Given the description of an element on the screen output the (x, y) to click on. 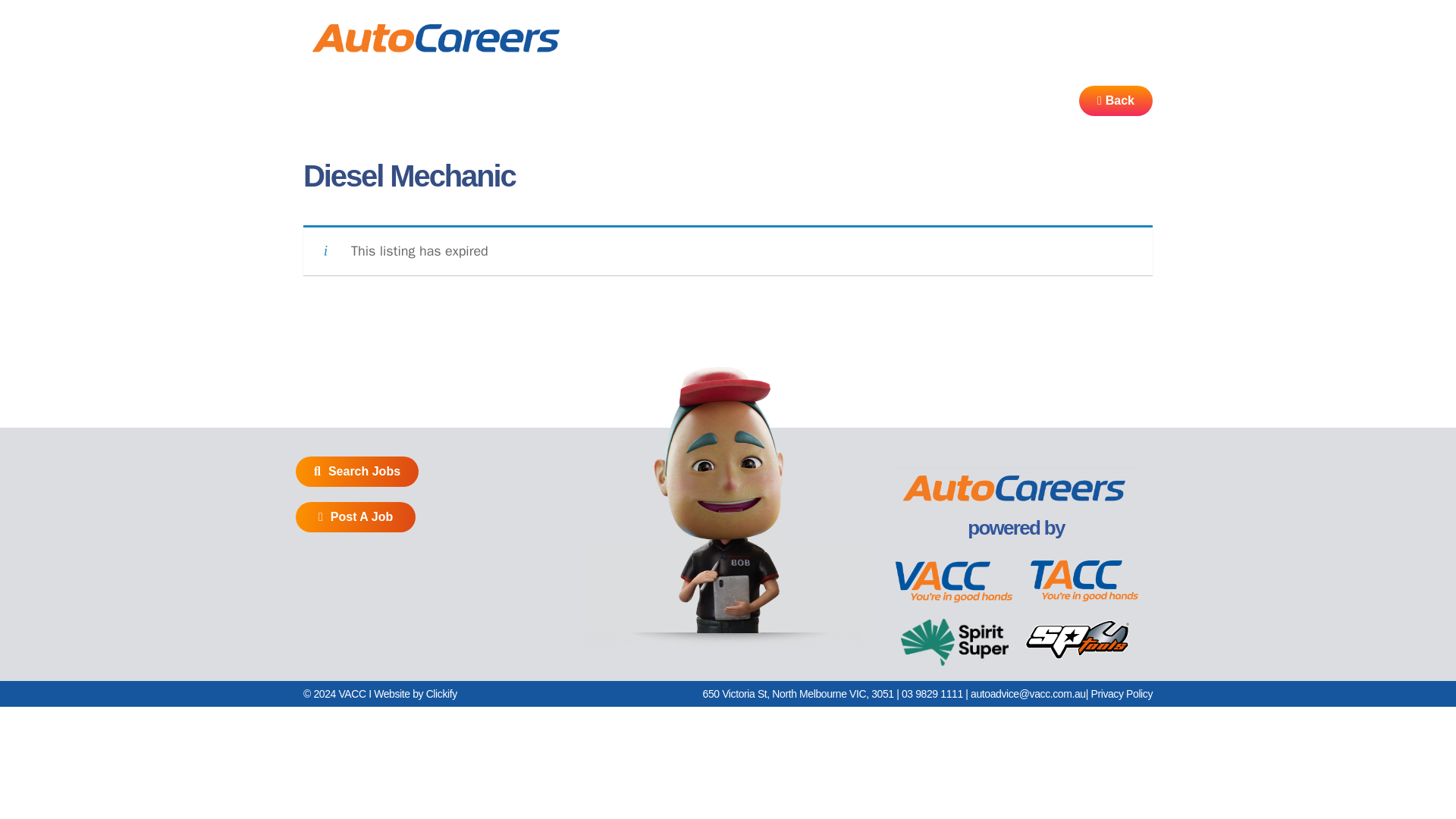
Clickify (441, 693)
Post A Job (354, 517)
Search Jobs (357, 471)
03 9829 1111 (931, 693)
Privacy Policy (1121, 693)
Back (1115, 100)
